Given the description of an element on the screen output the (x, y) to click on. 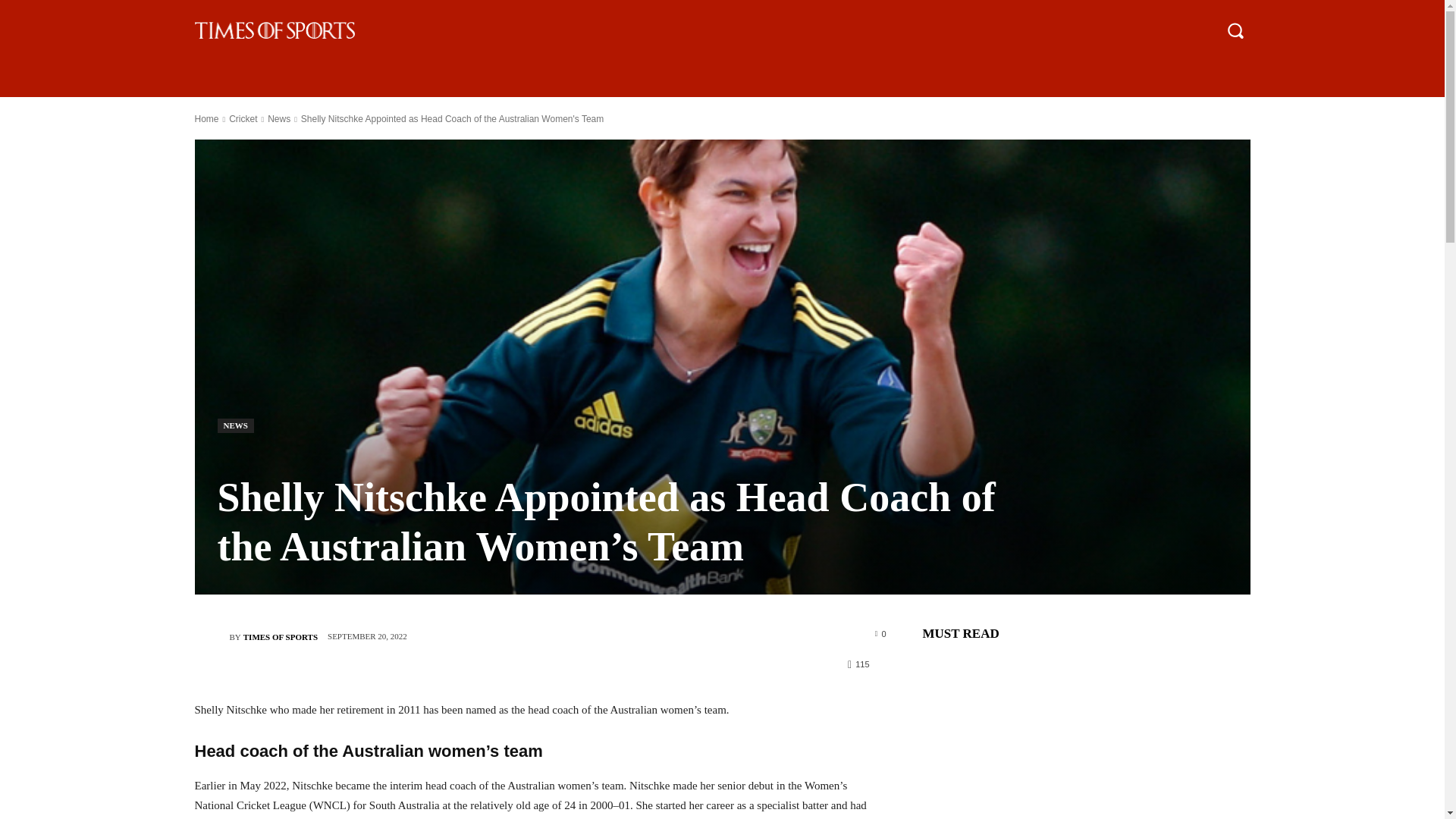
View all posts in News (278, 118)
Times of Sports (210, 636)
View all posts in Cricket (242, 118)
